Given the description of an element on the screen output the (x, y) to click on. 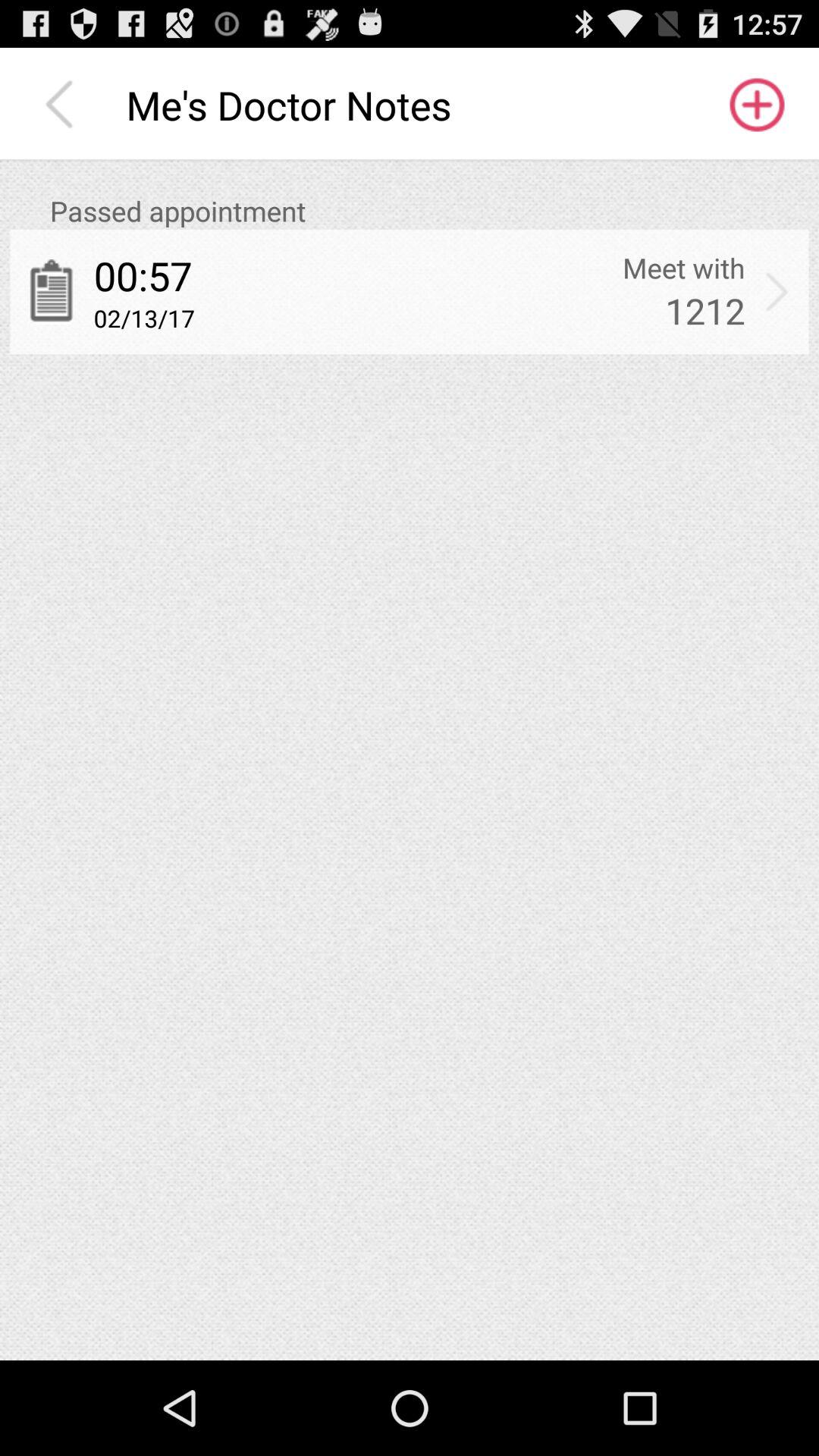
turn on 00:57 item (142, 275)
